Given the description of an element on the screen output the (x, y) to click on. 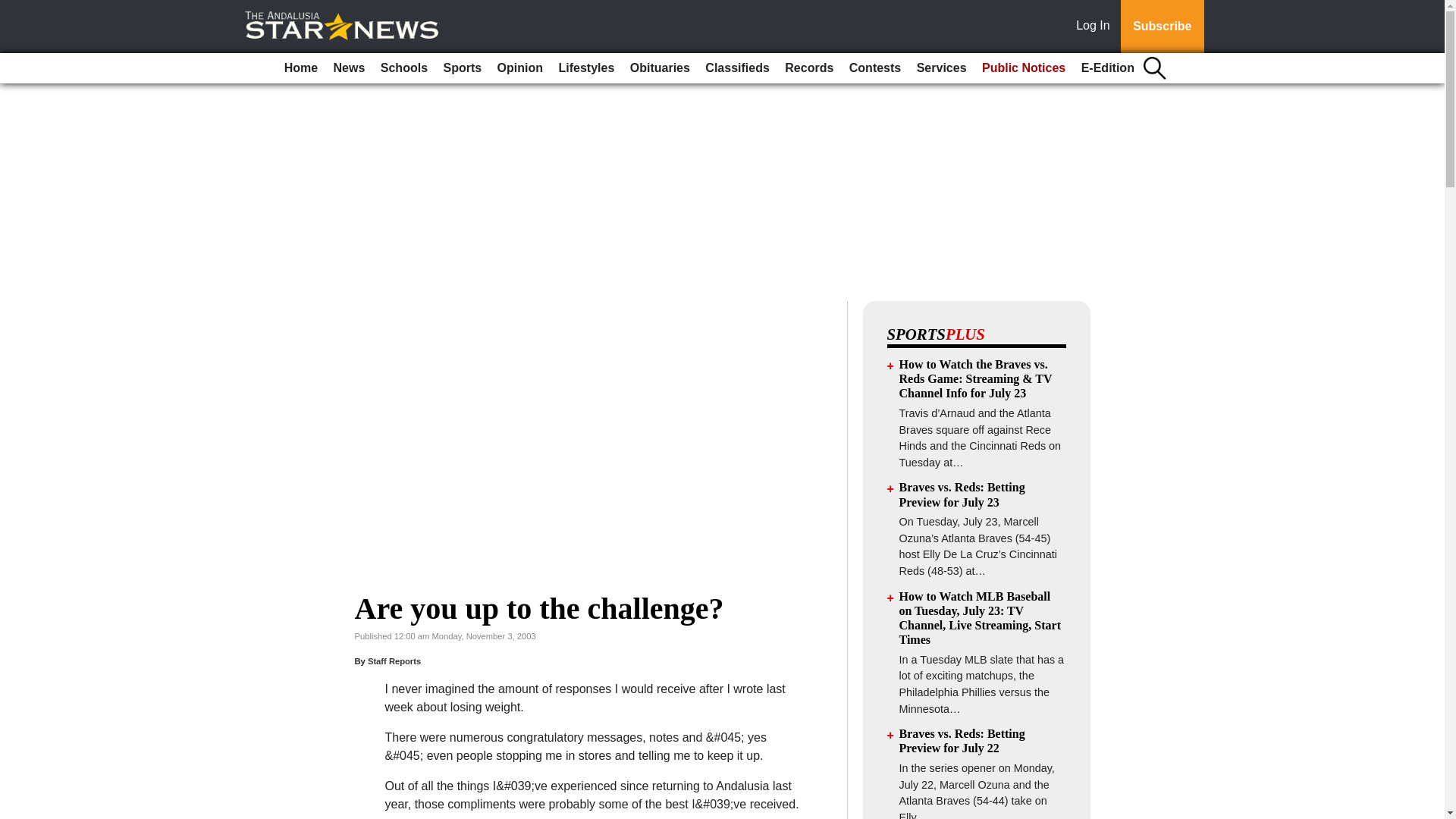
Braves vs. Reds: Betting Preview for July 22 (962, 740)
Records (809, 68)
Subscribe (1162, 26)
Sports (461, 68)
Contests (875, 68)
Schools (403, 68)
News (349, 68)
Classifieds (736, 68)
E-Edition (1107, 68)
Braves vs. Reds: Betting Preview for July 23 (962, 493)
Obituaries (659, 68)
Go (13, 9)
Staff Reports (394, 660)
Lifestyles (585, 68)
